Given the description of an element on the screen output the (x, y) to click on. 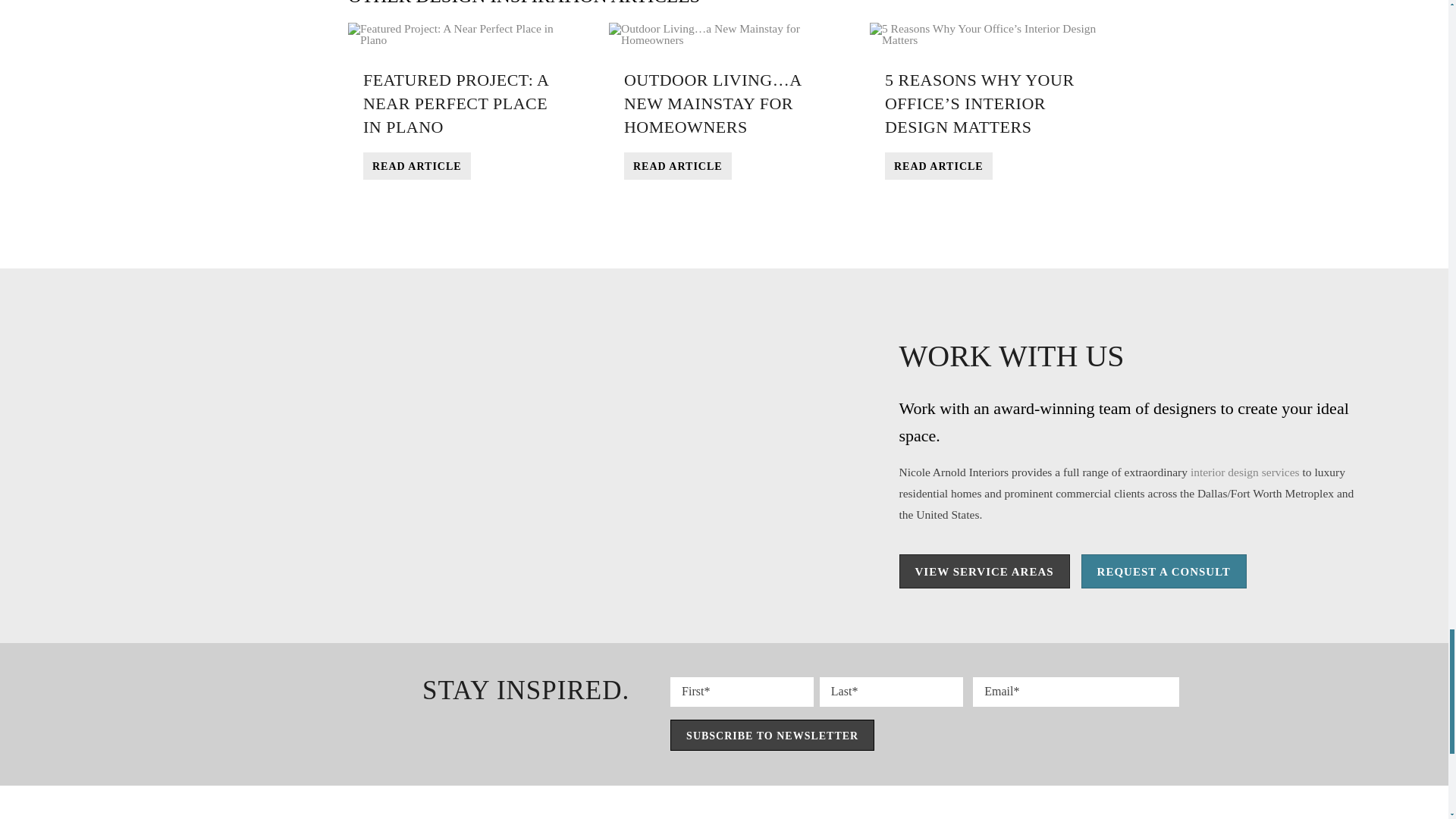
FEATURED PROJECT: A NEAR PERFECT PLACE IN PLANO (455, 103)
Featured Project: A Near Perfect Place in Plano (416, 165)
READ ARTICLE (678, 165)
Subscribe To Newsletter (772, 735)
READ ARTICLE (416, 165)
